Given the description of an element on the screen output the (x, y) to click on. 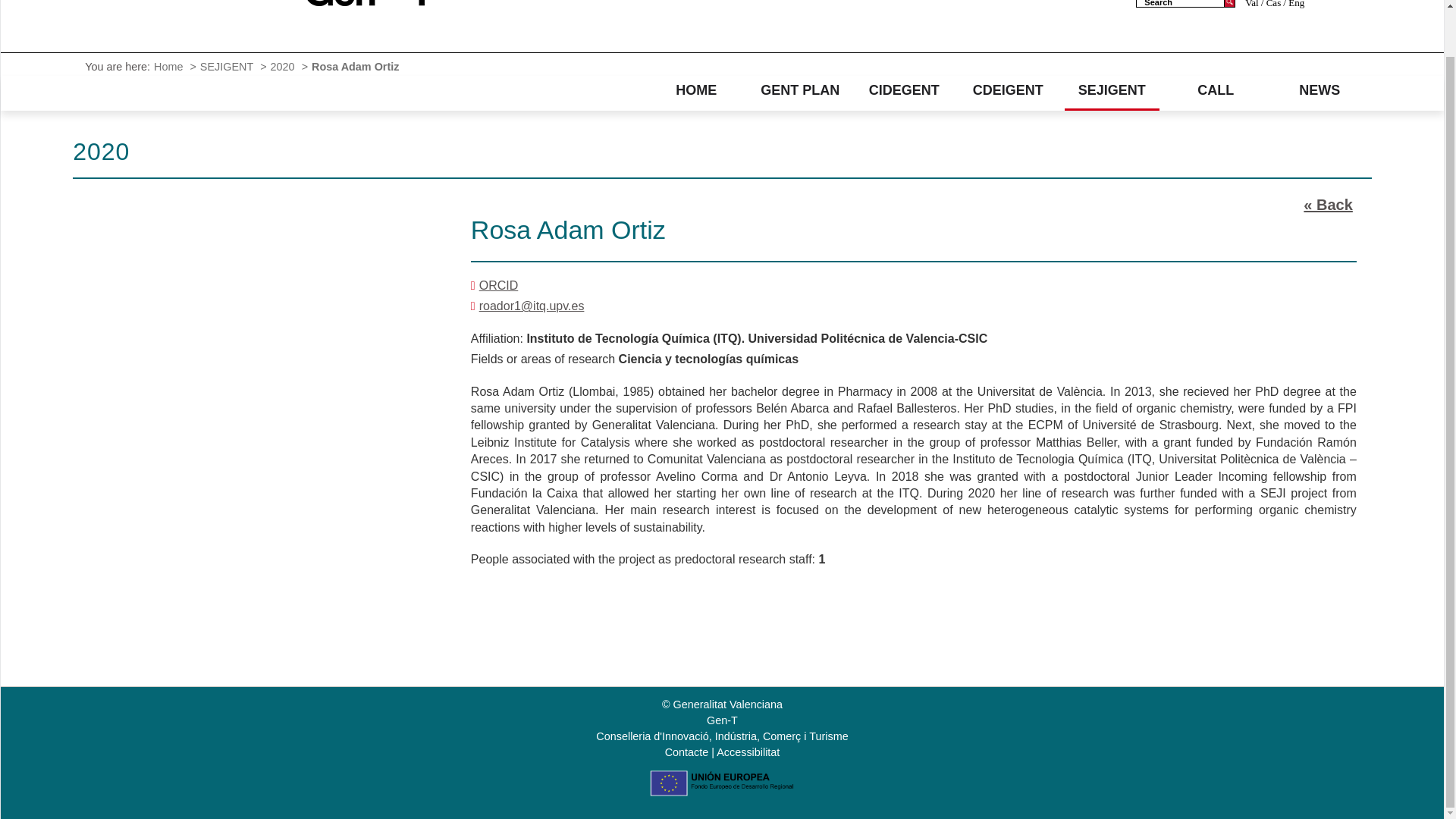
NEWS (1319, 90)
ORCID (498, 285)
Logo Gen-T (368, 2)
Val (1252, 4)
Eng (1294, 4)
Cas (1272, 4)
HOME (696, 90)
Accessibilitat (747, 752)
2020 (284, 66)
Generalitat Valenciana (204, 9)
GENT PLAN (799, 90)
CDEIGENT (1007, 90)
SEJIGENT (228, 66)
Home (170, 66)
CALL (1216, 90)
